Given the description of an element on the screen output the (x, y) to click on. 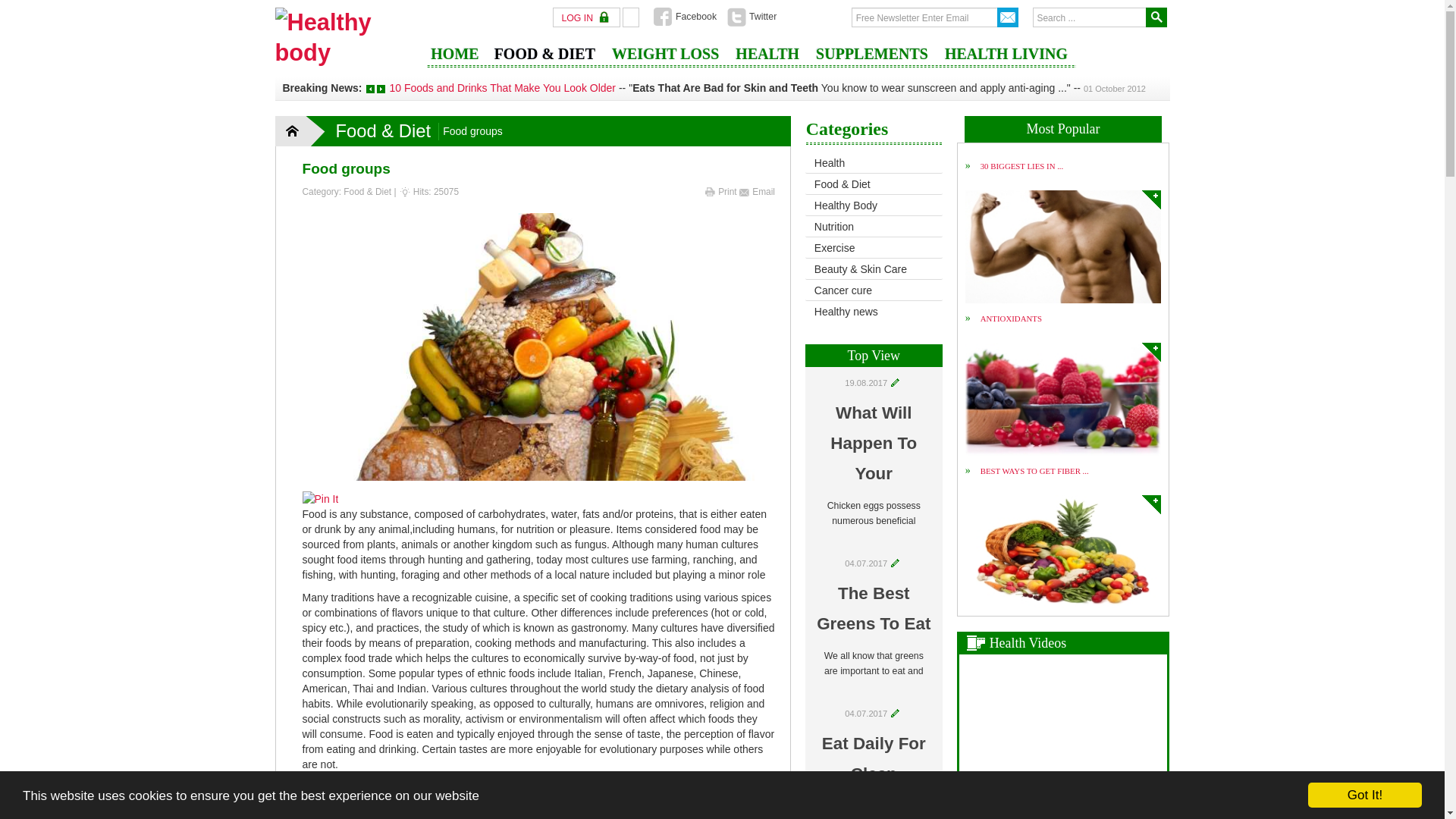
Search Element type: text (1155, 17)
Print Element type: text (722, 191)
10 Foods and Drinks That Make You Look Older Element type: text (502, 87)
WEIGHT LOSS Element type: text (665, 58)
ANTIOXIDANTS Element type: text (1010, 318)
The Best Greens To Eat Element type: text (873, 608)
Beauty & Skin Care Element type: text (873, 269)
Food & Diet Element type: text (367, 191)
Healthy news Element type: text (873, 311)
Best Ways to Get Fiber in your Diet Element type: hover (1151, 504)
Antioxidants Element type: hover (1151, 351)
30 BIGGEST LIES IN ... Element type: text (1021, 165)
Nutrition Element type: text (873, 226)
Antioxidants Element type: hover (1063, 398)
Food groups Element type: text (345, 168)
LOG IN Element type: text (586, 17)
What Will Happen To Your Element type: text (873, 443)
SUPPLEMENTS Element type: text (871, 58)
FOOD & DIET Element type: text (544, 58)
Food & Diet Element type: text (383, 130)
Twitter Element type: text (751, 16)
Facebook Element type: text (684, 16)
Home Element type: text (300, 130)
Eat Daily For Clean Element type: text (873, 758)
Healthy Body Element type: text (873, 205)
Send Element type: text (1007, 17)
Health Element type: text (873, 163)
Cancer cure Element type: text (873, 290)
BEST WAYS TO GET FIBER ... Element type: text (1034, 470)
Email Element type: text (757, 191)
HEALTH LIVING Element type: text (1006, 58)
Food & Diet Element type: text (873, 184)
Got It! Element type: text (1364, 794)
HOME Element type: text (454, 58)
Healthy body Element type: hover (342, 35)
30 Biggest Lies In Bodybuilding Element type: hover (1151, 199)
Best Ways to Get Fiber in your Diet Element type: hover (1063, 551)
30 Biggest Lies In Bodybuilding Element type: hover (1063, 246)
HEALTH Element type: text (767, 58)
Scroll to top Element type: text (1419, 794)
Exercise Element type: text (873, 248)
